Given the description of an element on the screen output the (x, y) to click on. 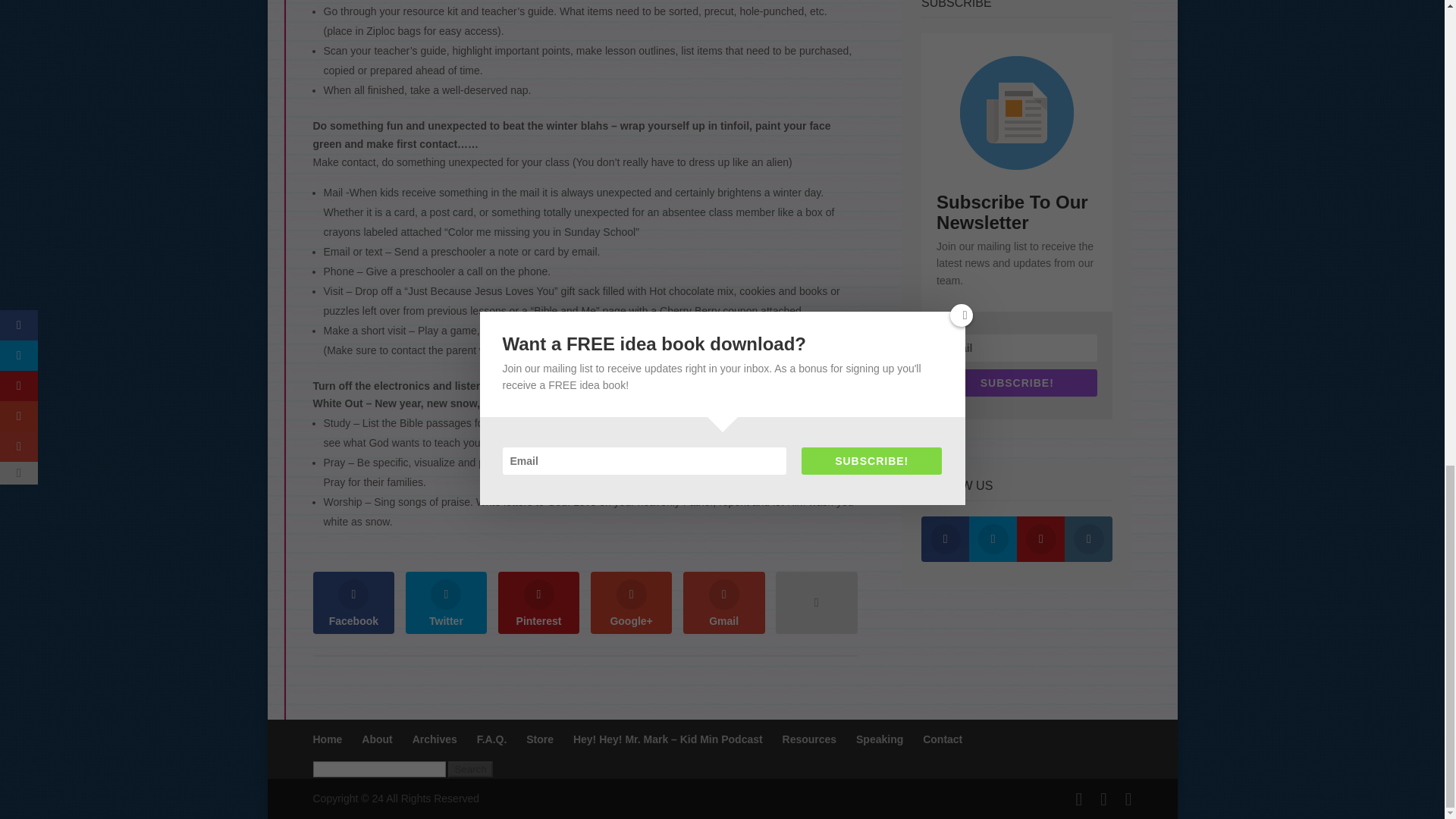
Search (470, 769)
Gmail (723, 602)
Twitter (446, 602)
Pinterest (538, 602)
SUBSCRIBE! (1016, 382)
Facebook (353, 602)
